Given the description of an element on the screen output the (x, y) to click on. 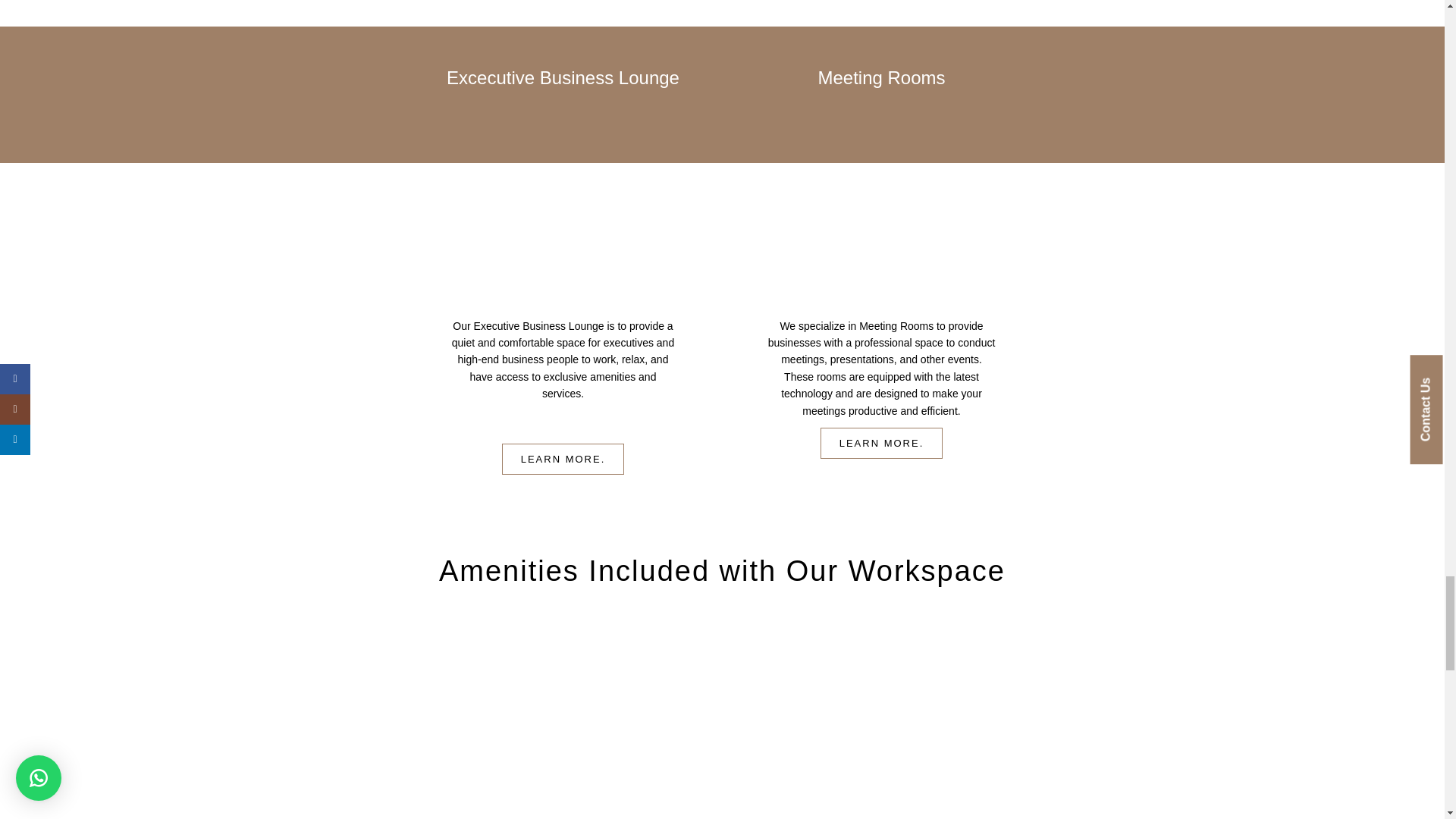
LEARN MORE. (563, 459)
LEARN MORE. (882, 442)
